Given the description of an element on the screen output the (x, y) to click on. 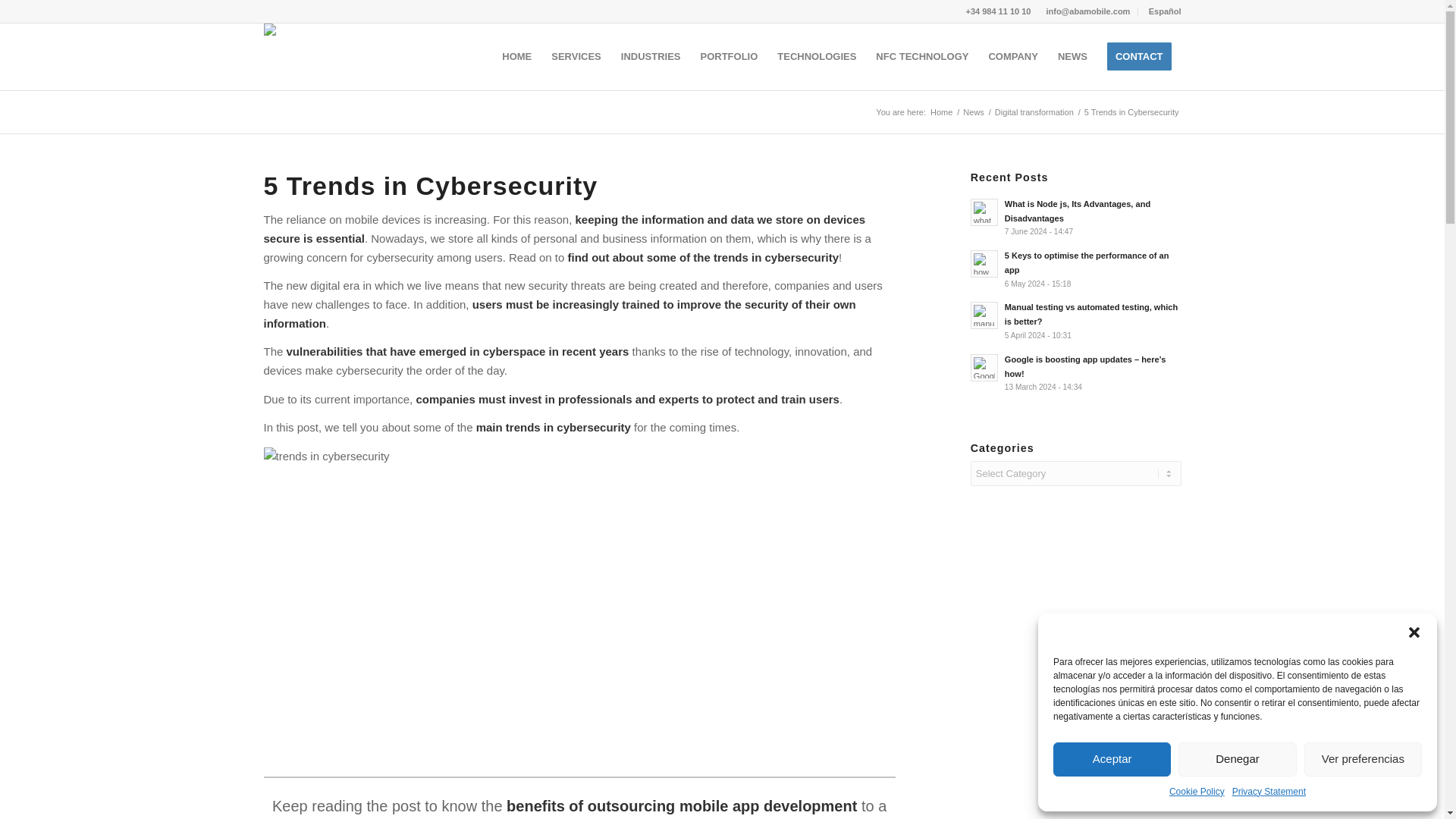
ABAMobile (941, 112)
What is Node js, Its Advantages, and Disadvantages (1075, 217)
5 Keys to optimise the performance of an app (1075, 269)
INDUSTRIES (650, 56)
Denegar (1236, 759)
Privacy Statement (1268, 791)
Cookie Policy (1196, 791)
HOME (516, 56)
logo ABAMobile web (293, 33)
Ver preferencias (1363, 759)
Aceptar (1111, 759)
News (973, 112)
Manual testing vs automated testing, which is better? (1075, 320)
SERVICES (576, 56)
